Given the description of an element on the screen output the (x, y) to click on. 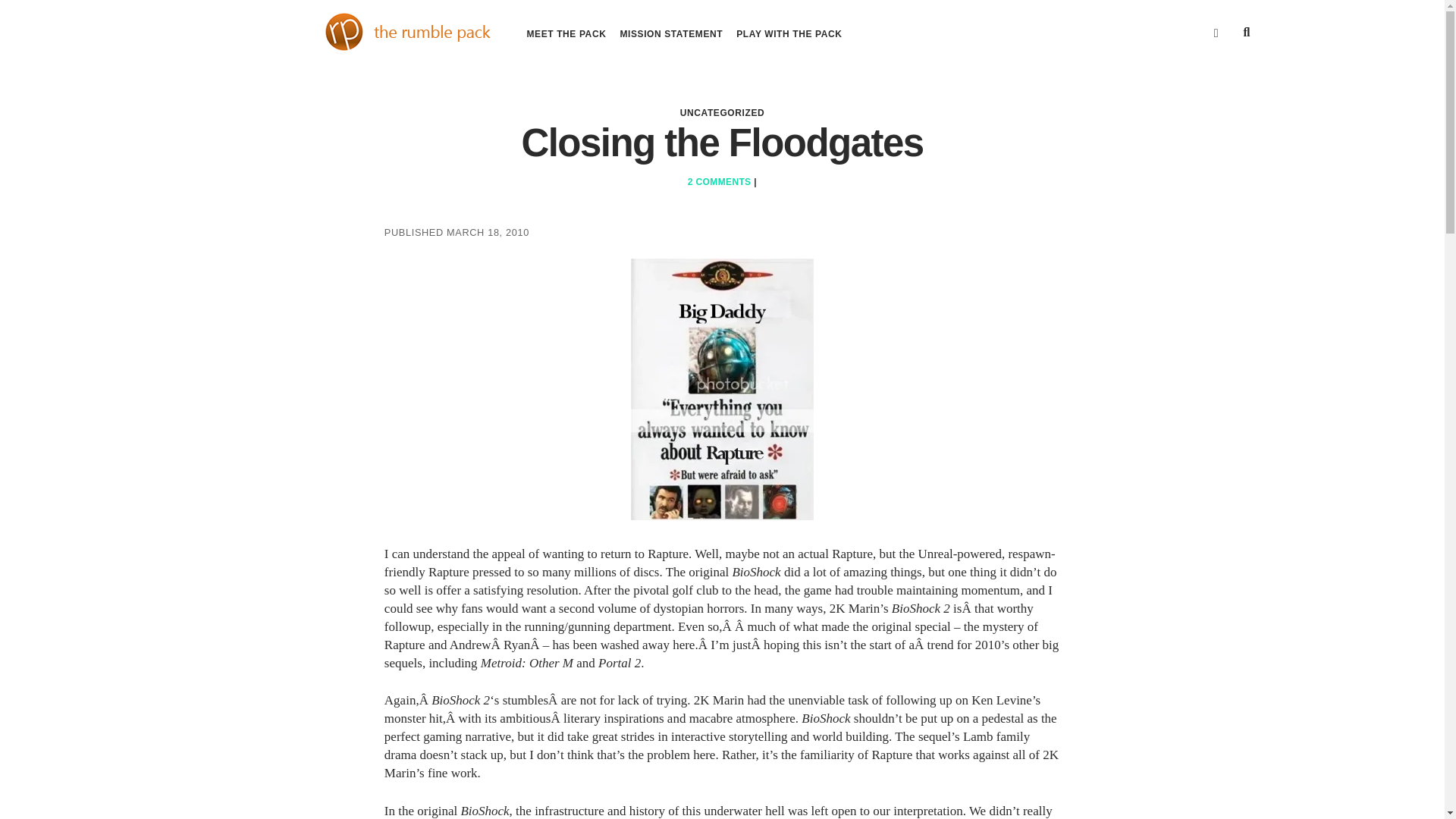
The Rumble Pack (339, 50)
2 COMMENTS (719, 181)
MEET THE PACK (565, 33)
MISSION STATEMENT (671, 33)
PLAY WITH THE PACK (788, 33)
